Given the description of an element on the screen output the (x, y) to click on. 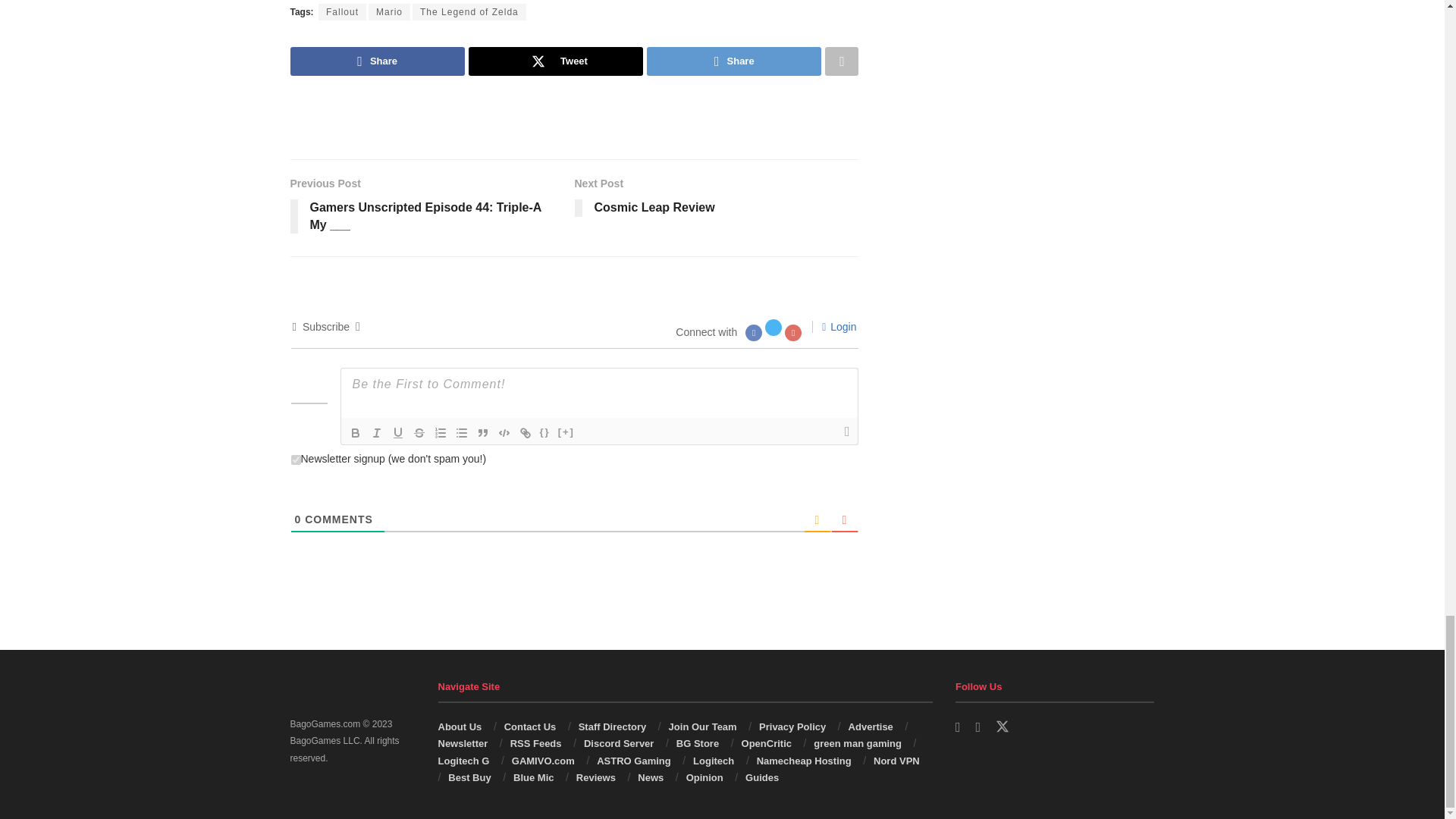
Underline (397, 433)
Ordered List (439, 433)
Strike (418, 433)
Italic (376, 433)
1 (296, 460)
Bold (354, 433)
